Given the description of an element on the screen output the (x, y) to click on. 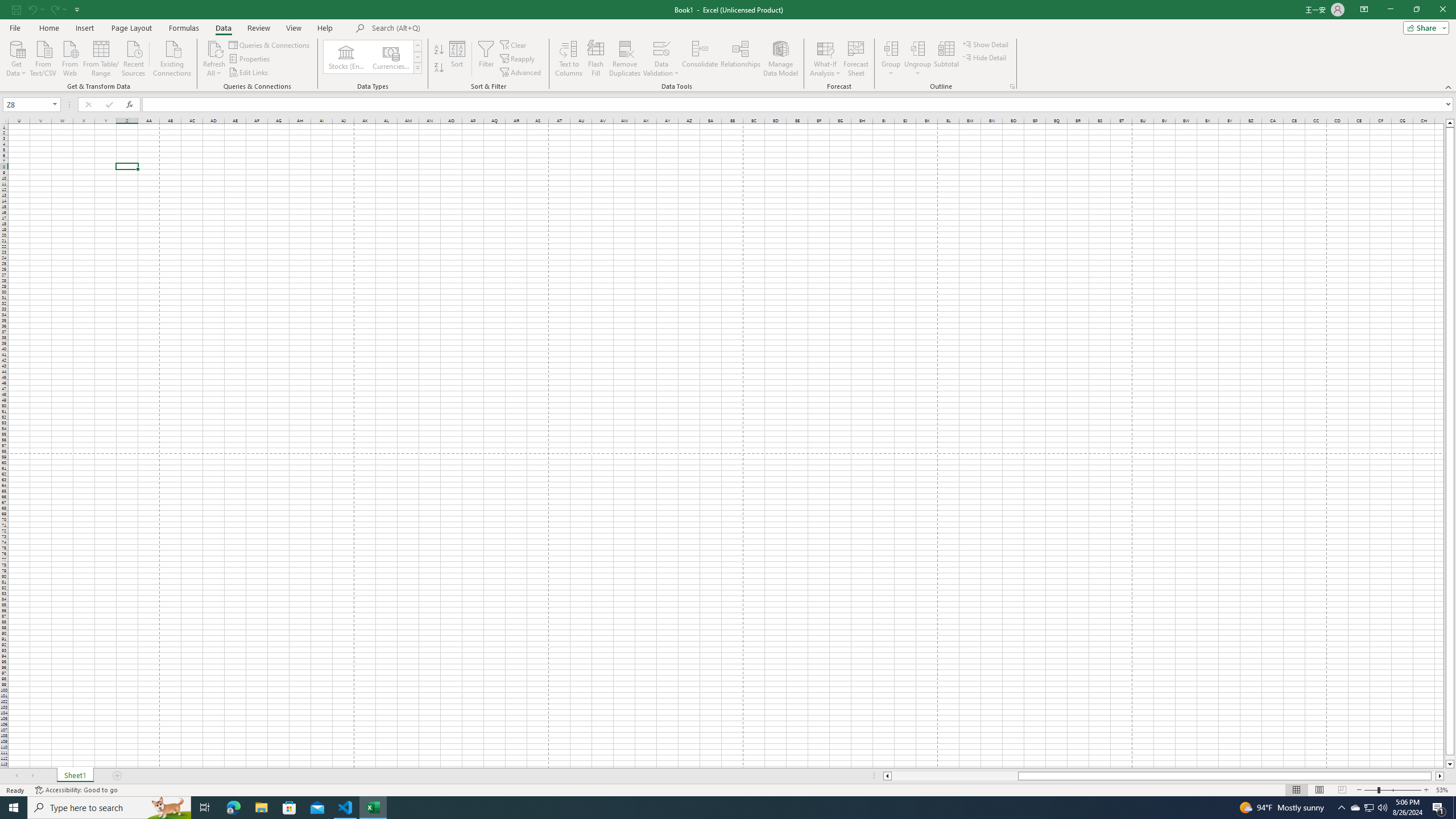
Scroll Right (32, 775)
Row Down (417, 56)
What-If Analysis (825, 58)
Page Layout (131, 28)
Close (1442, 9)
Minimize (1390, 9)
Subtotal (946, 58)
Undo (31, 9)
Redo (57, 9)
Add Sheet (117, 775)
Column left (886, 775)
Sort A to Z (438, 49)
Group and Outline Settings (1011, 85)
AutomationID: ConvertToLinkedEntity (372, 56)
From Table/Range (100, 57)
